Given the description of an element on the screen output the (x, y) to click on. 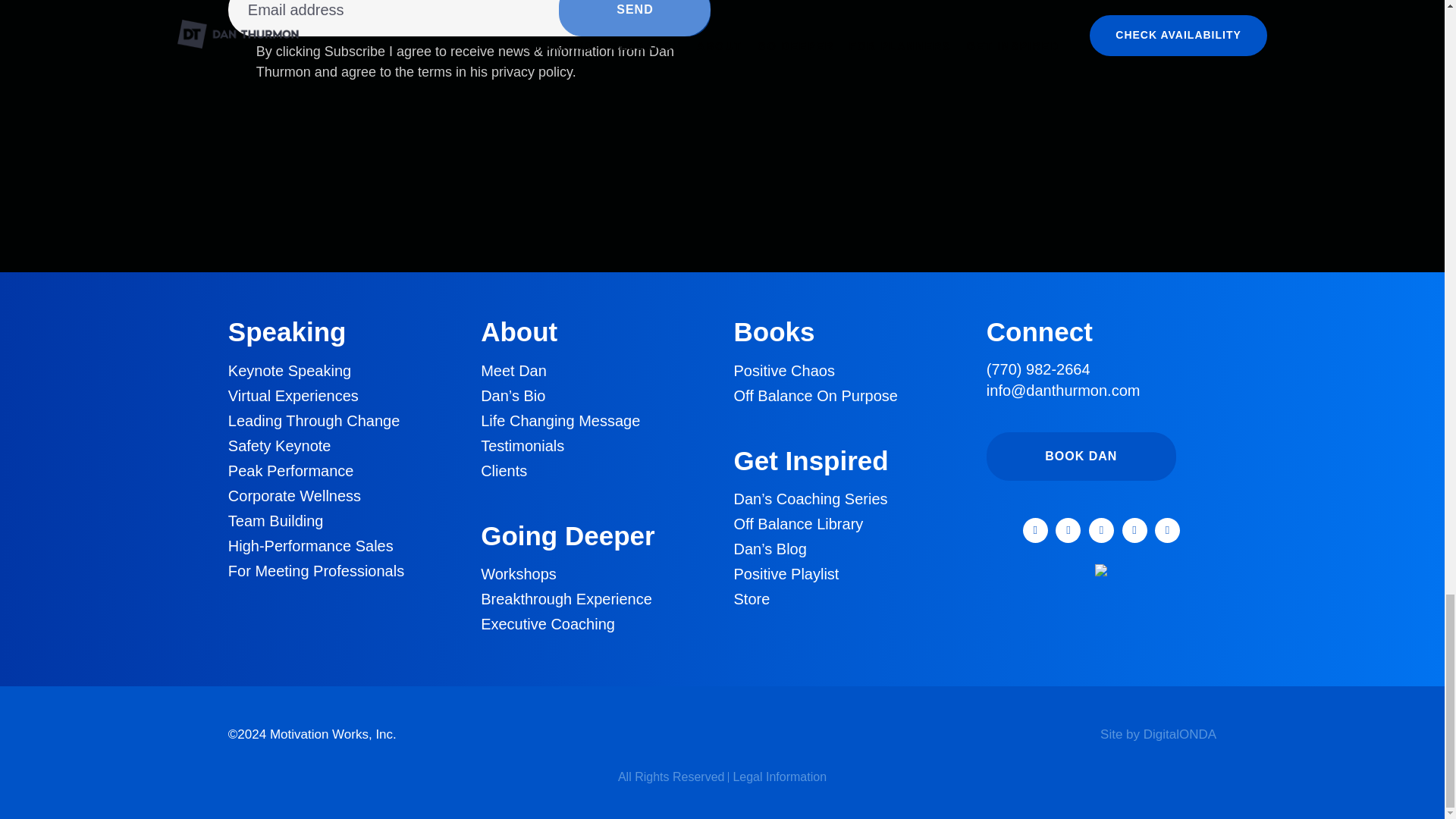
Send (634, 18)
Dan Thurmon (721, 734)
Book Dan (1081, 456)
